Given the description of an element on the screen output the (x, y) to click on. 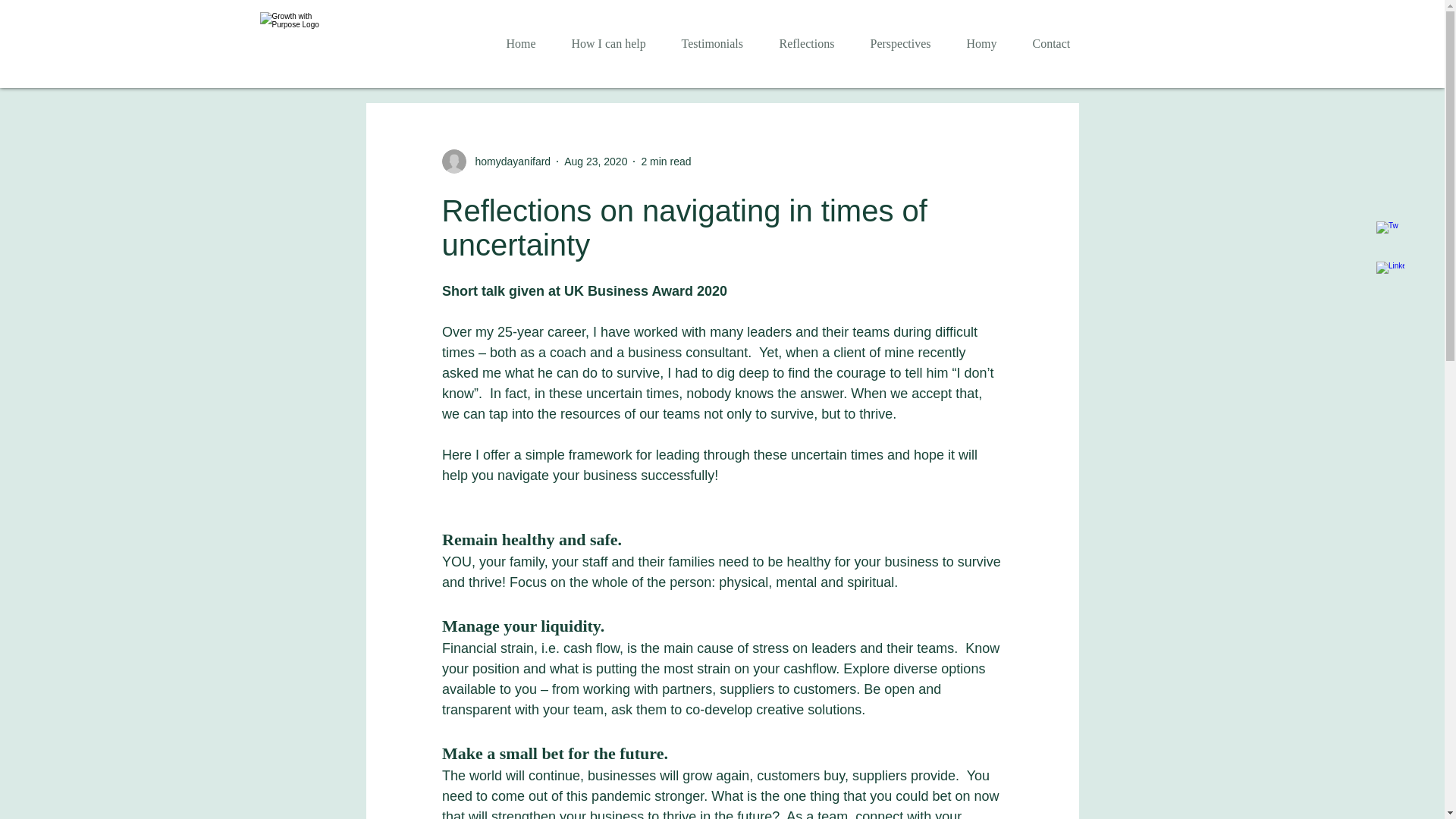
Home (527, 44)
Homy (988, 44)
How I can help (614, 44)
Reflections (813, 44)
Perspectives (907, 44)
2 min read (665, 160)
Aug 23, 2020 (595, 160)
Contact (1056, 44)
homydayanifard (507, 160)
Testimonials (718, 44)
